Given the description of an element on the screen output the (x, y) to click on. 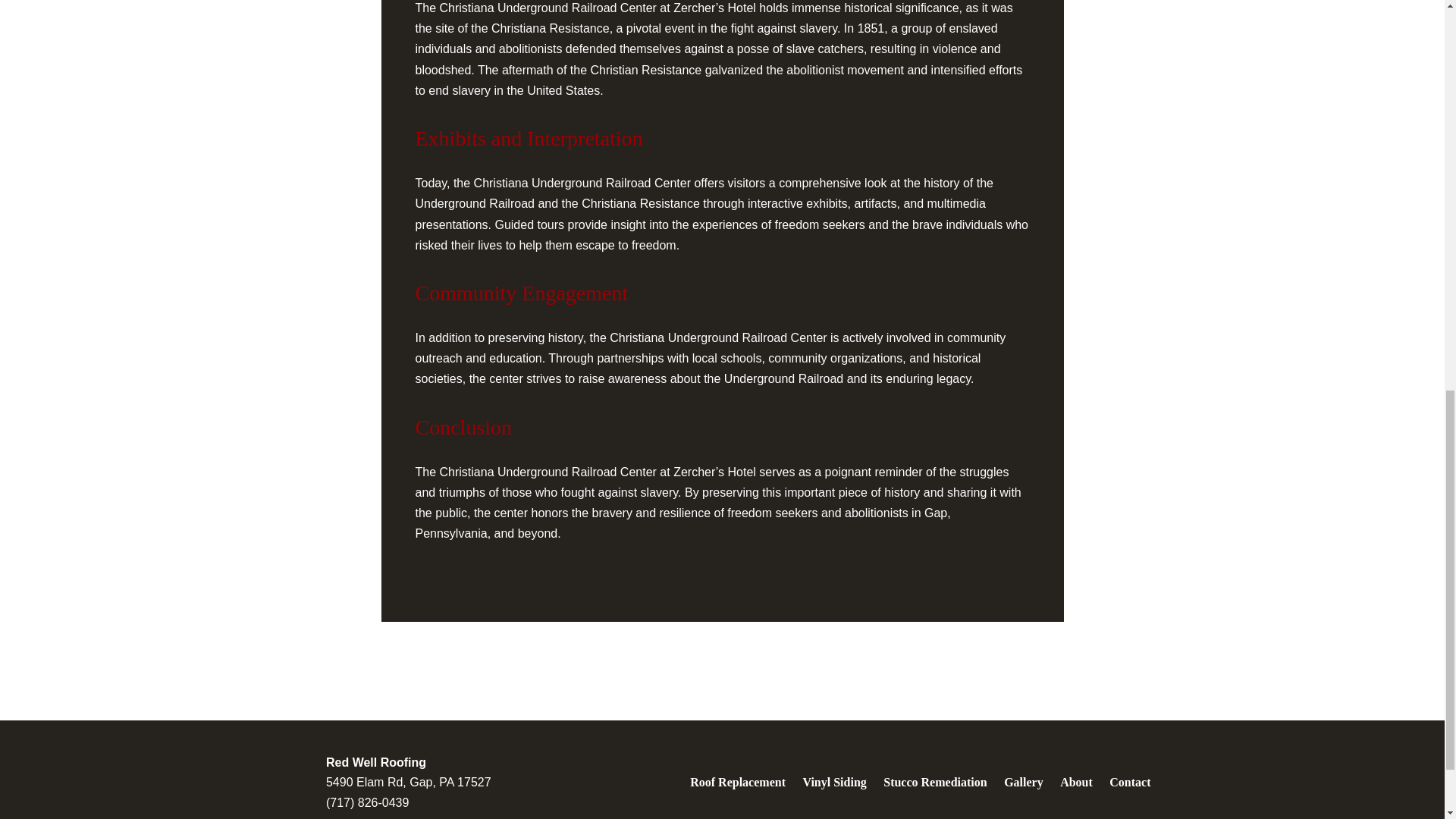
Vinyl Siding (833, 782)
Stucco Remediation (934, 782)
Roof Replacement (741, 782)
Contact (1126, 782)
Gallery (1023, 782)
About (1075, 782)
